Given the description of an element on the screen output the (x, y) to click on. 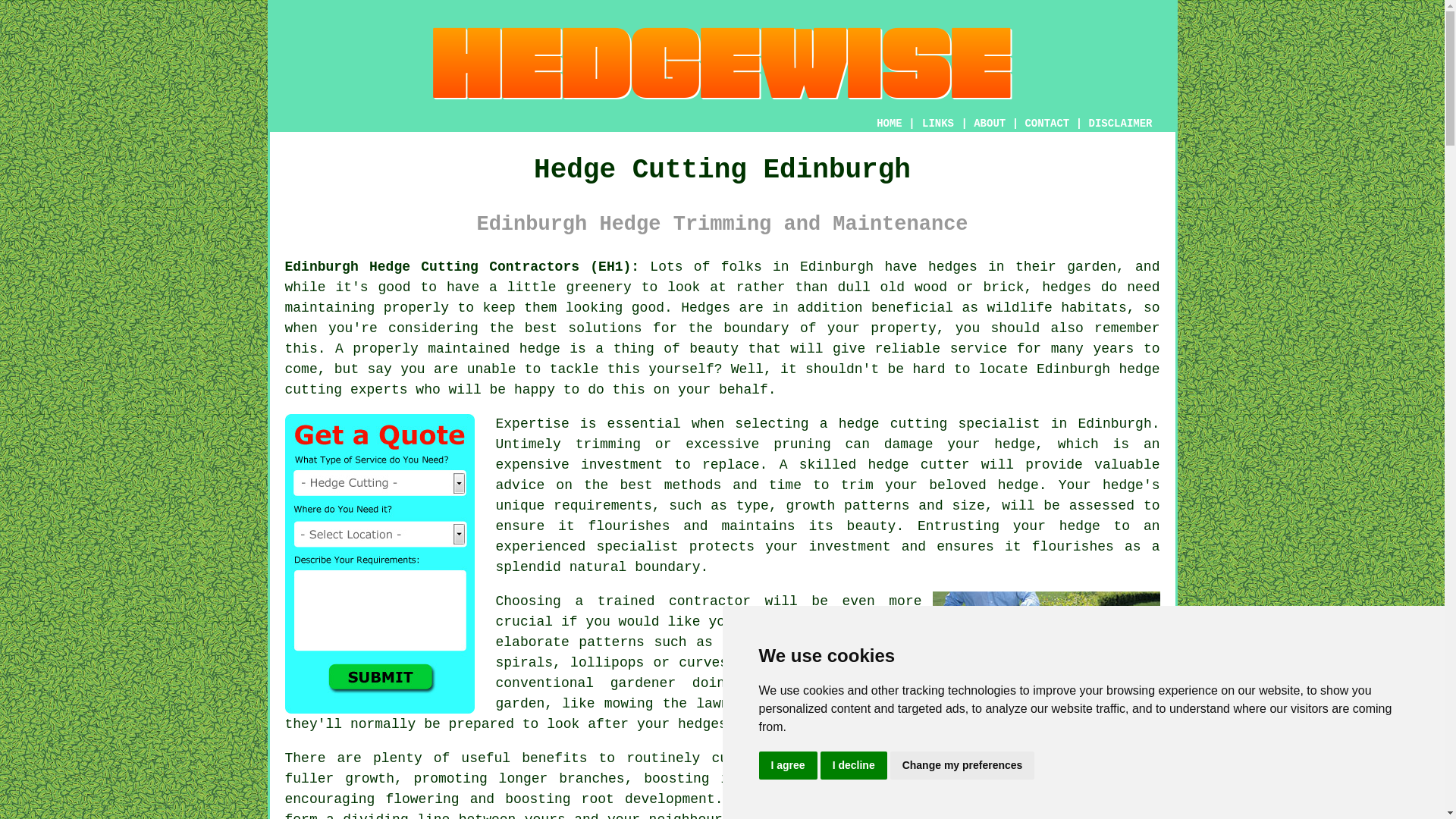
hedges (1066, 287)
HOME (889, 123)
LINKS (938, 123)
hedge (887, 464)
I agree (787, 765)
Hedge Cutting Edinburgh (722, 63)
hedge cutting specialist (939, 423)
hedges (952, 266)
Hedge Cutting Edinburgh (1046, 665)
Change my preferences (962, 765)
I decline (853, 765)
